Given the description of an element on the screen output the (x, y) to click on. 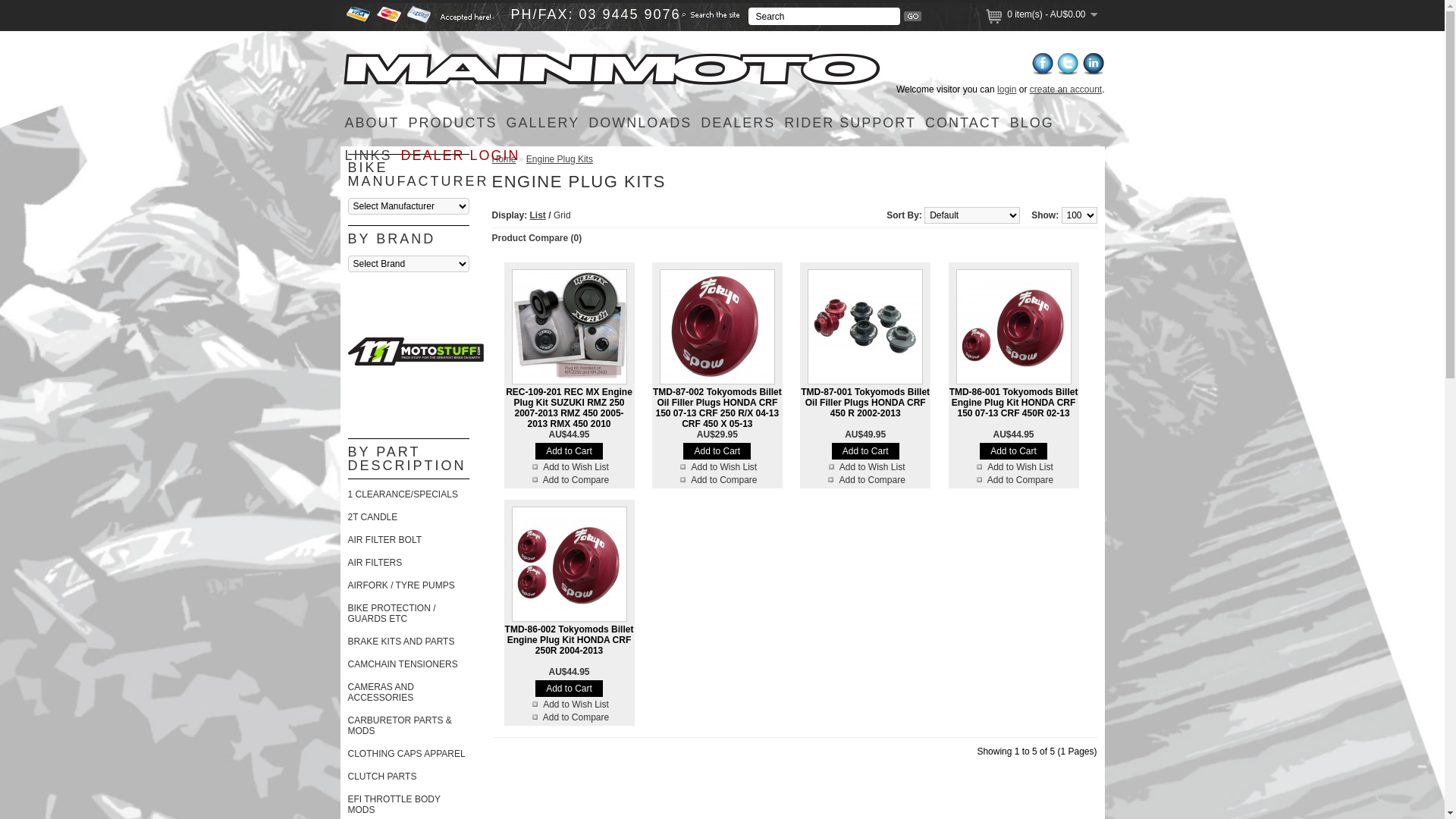
Add to Compare Element type: text (1013, 479)
Add to Cart Element type: text (568, 688)
CAMCHAIN TENSIONERS Element type: text (402, 663)
EFI THROTTLE BODY MODS Element type: text (393, 804)
Add to Wish List Element type: text (1013, 466)
Search Element type: text (823, 16)
DEALERS Element type: text (737, 122)
Add to Cart Element type: text (716, 450)
Add to Compare Element type: text (864, 479)
2T CANDLE Element type: text (372, 516)
LINKS Element type: text (367, 155)
0 item(s) - AU$0.00 Element type: text (1051, 14)
Engine Plug Kits Element type: text (559, 158)
DOWNLOADS Element type: text (639, 122)
1 CLEARANCE/SPECIALS Element type: text (402, 494)
login Element type: text (1006, 89)
GALLERY Element type: text (543, 122)
Add to Cart Element type: text (568, 450)
Add to Wish List Element type: text (568, 466)
DEALER LOGIN Element type: text (460, 155)
MOTOSTUFF Element type: hover (416, 351)
CARBURETOR PARTS & MODS Element type: text (399, 725)
CLUTCH PARTS Element type: text (381, 776)
CLOTHING CAPS APPAREL Element type: text (405, 753)
CONTACT Element type: text (962, 122)
BLOG Element type: text (1031, 122)
create an account Element type: text (1065, 89)
Add to Cart Element type: text (1013, 450)
AIR FILTERS Element type: text (374, 562)
AIR FILTER BOLT Element type: text (384, 539)
Tokyomods Billet Oil Filler Plugs HONDA CRF 450 R 2002-2013 Element type: hover (864, 326)
ABOUT Element type: text (371, 122)
RIDER SUPPORT Element type: text (849, 122)
Add to Compare Element type: text (568, 479)
CAMERAS AND ACCESSORIES Element type: text (380, 691)
Mainmoto Element type: hover (610, 68)
Add to Cart Element type: text (865, 450)
Home Element type: text (503, 158)
BIKE PROTECTION / GUARDS ETC Element type: text (391, 613)
Product Compare (0) Element type: text (536, 237)
Add to Wish List Element type: text (716, 466)
Add to Wish List Element type: text (865, 466)
Add to Compare Element type: text (568, 717)
BRAKE KITS AND PARTS Element type: text (400, 641)
List Element type: text (538, 215)
PRODUCTS Element type: text (453, 122)
Add to Compare Element type: text (716, 479)
Tokyomods Billet Engine Plug Kit HONDA CRF 250R 2004-2013 Element type: hover (568, 563)
AIRFORK / TYRE PUMPS Element type: text (400, 585)
Add to Wish List Element type: text (568, 704)
